Given the description of an element on the screen output the (x, y) to click on. 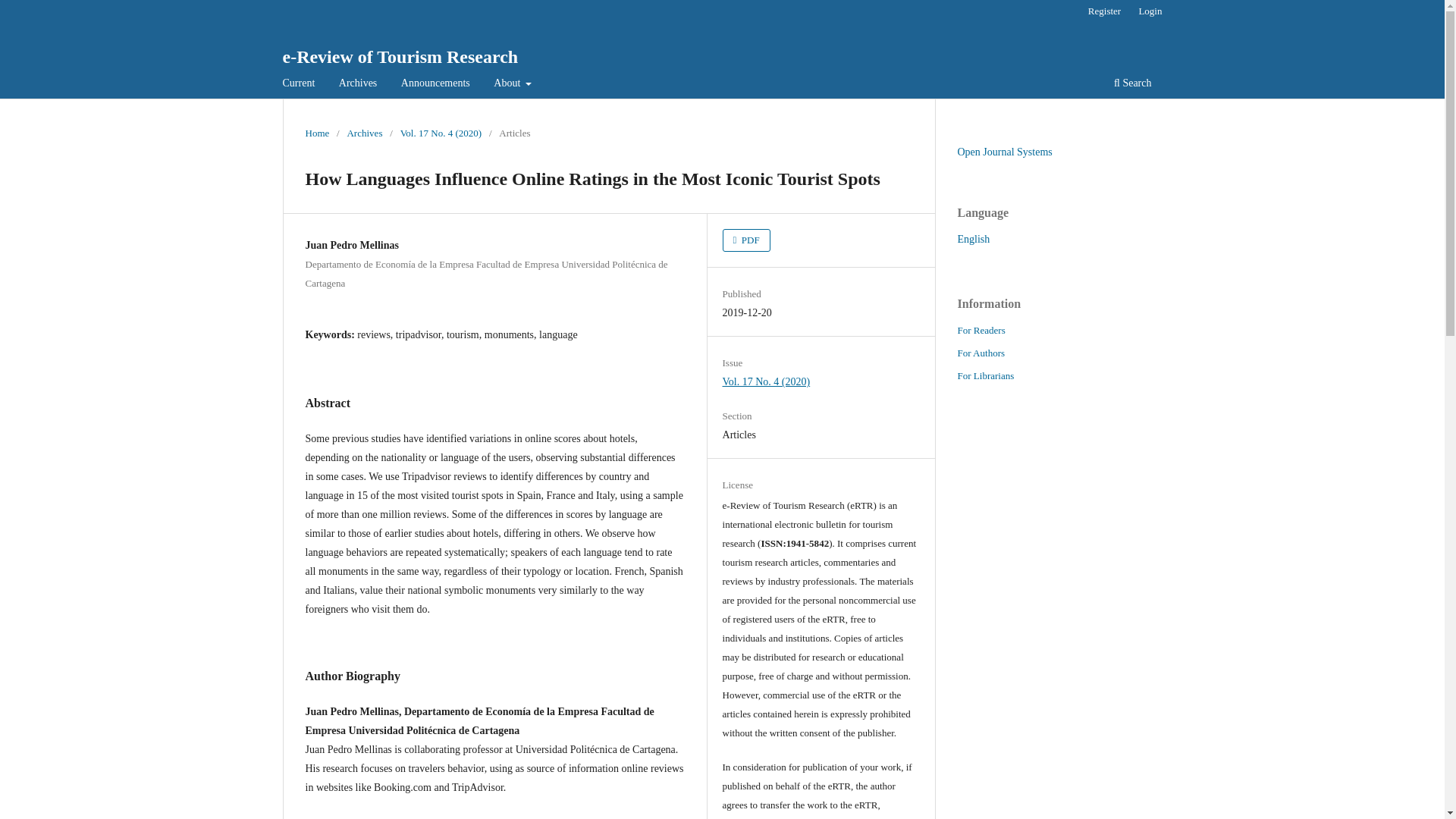
Home (316, 133)
PDF (746, 240)
e-Review of Tourism Research (400, 56)
Archives (363, 133)
Search (1132, 85)
Announcements (436, 85)
About (512, 85)
Login (1150, 11)
Current (299, 85)
Archives (357, 85)
